Given the description of an element on the screen output the (x, y) to click on. 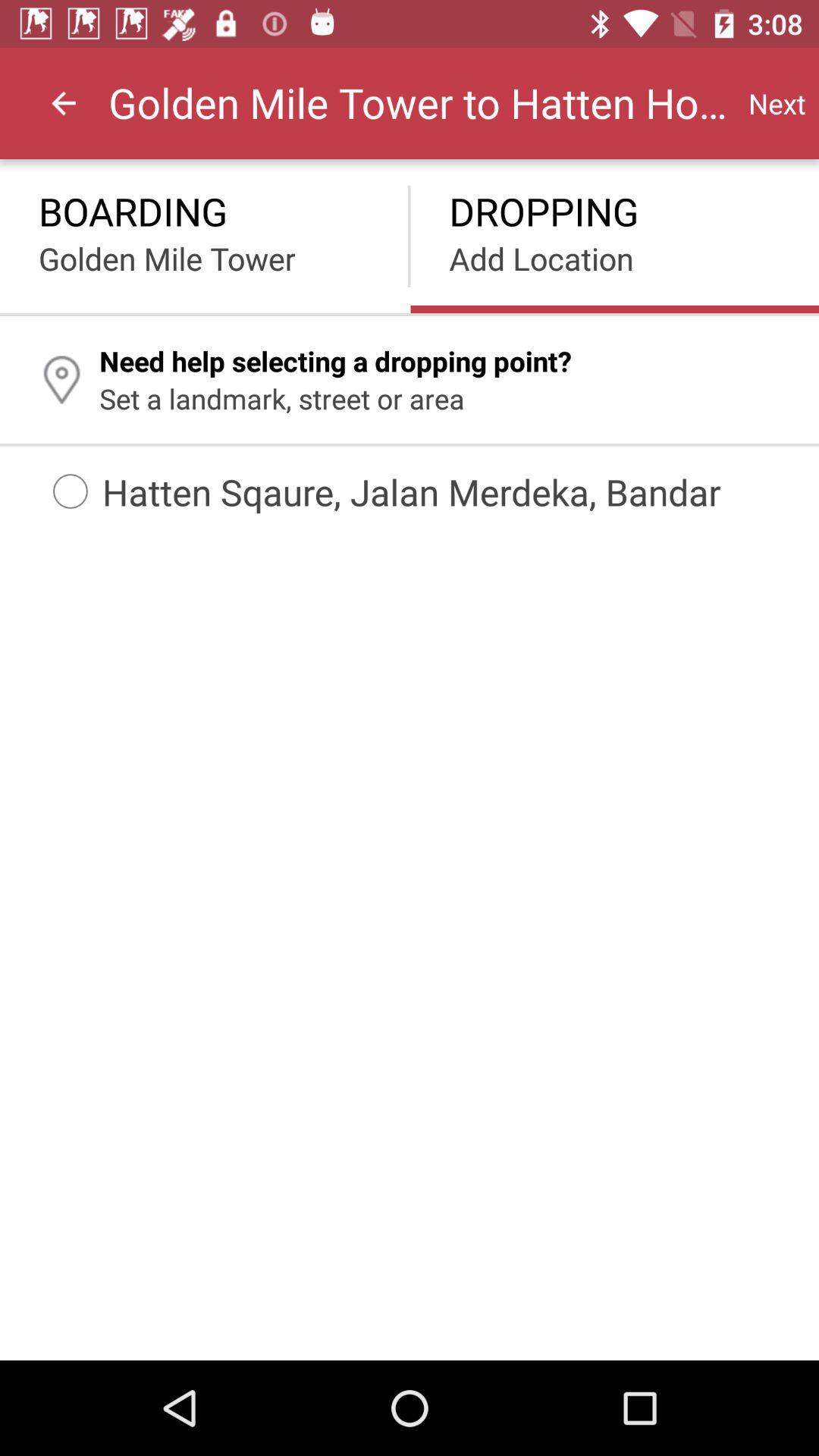
launch item next to the golden mile tower icon (63, 103)
